Given the description of an element on the screen output the (x, y) to click on. 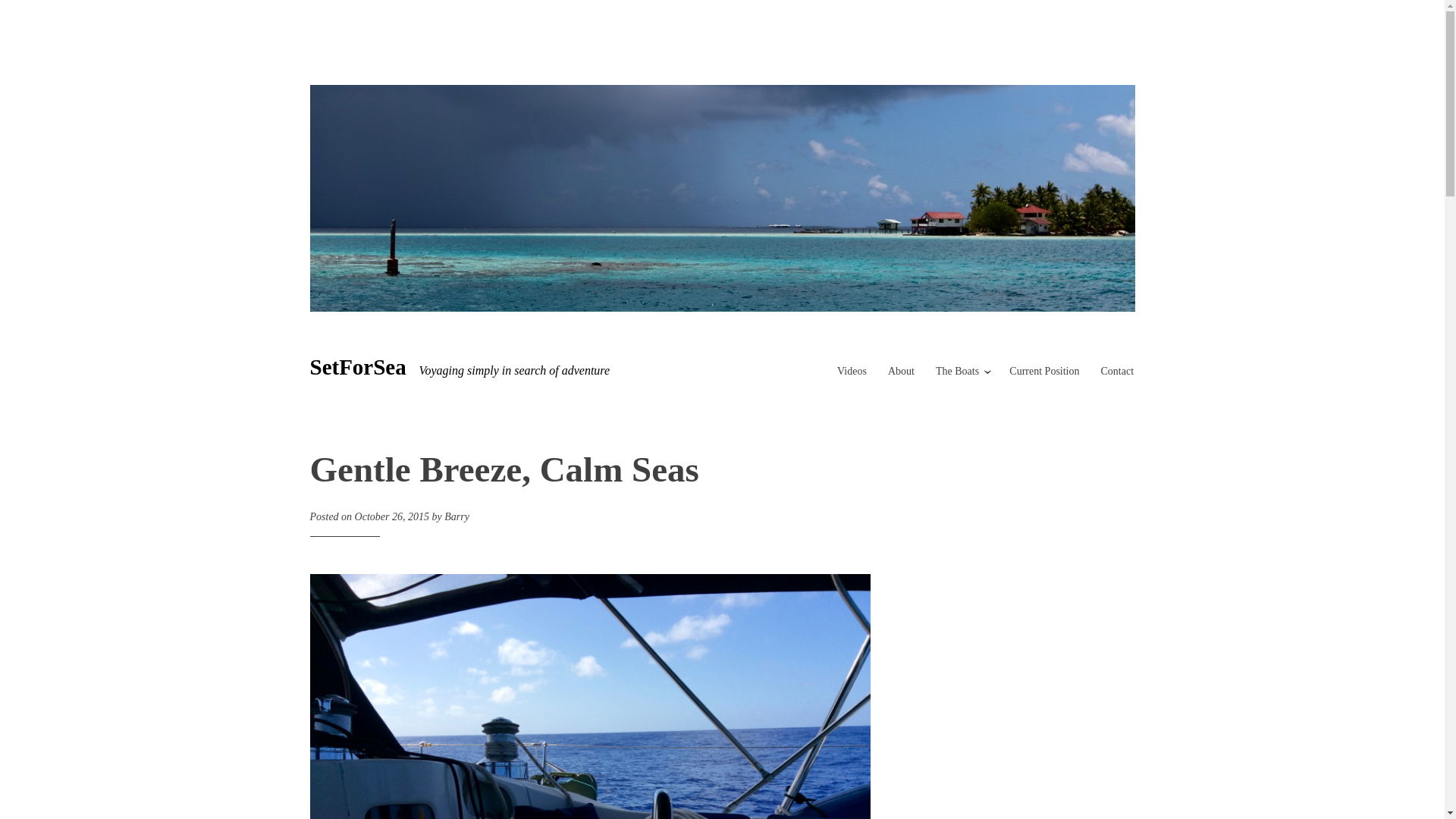
Contact Form (1117, 370)
Current Position (1043, 370)
Contact (1117, 370)
About (901, 370)
The Boats (957, 370)
Videos (851, 370)
SetForSea (357, 366)
Barry (456, 516)
October 26, 2015 (392, 516)
